Given the description of an element on the screen output the (x, y) to click on. 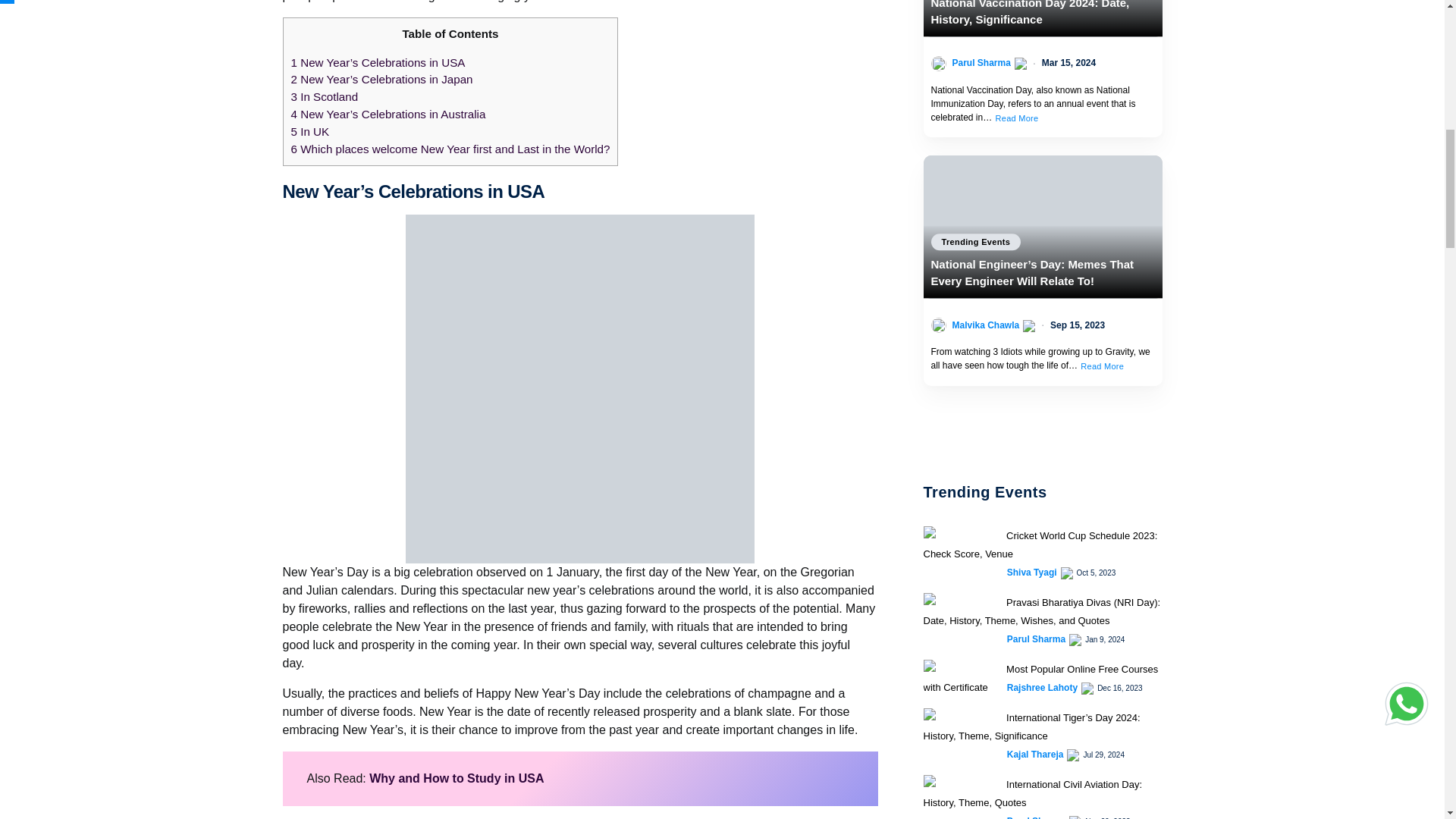
View all posts by Parul Sharma (981, 62)
View all posts by Parul Sharma (1036, 639)
View all posts by Shiva Tyagi (1032, 572)
View all posts by Parul Sharma (1036, 816)
View all posts by Rajshree Lahoty (1042, 687)
View all posts by Kajal Thareja (1035, 754)
View all posts by Malvika Chawla (986, 325)
